Given the description of an element on the screen output the (x, y) to click on. 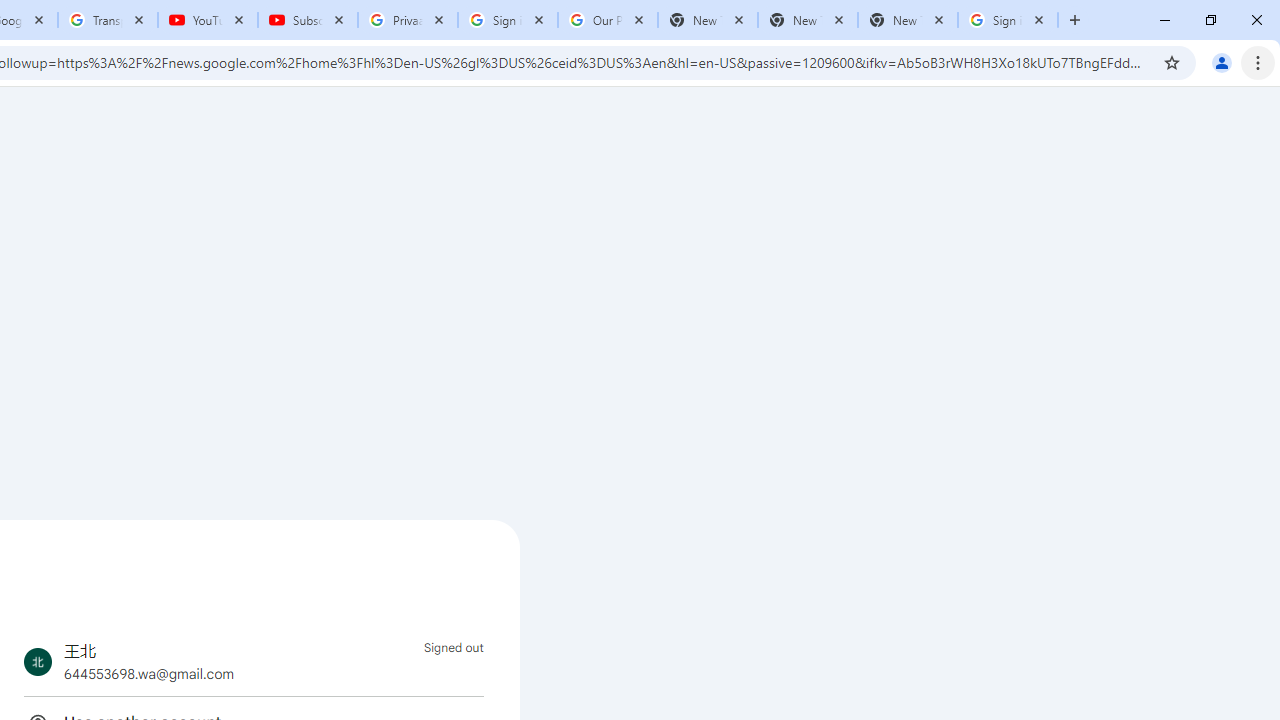
YouTube (207, 20)
